Given the description of an element on the screen output the (x, y) to click on. 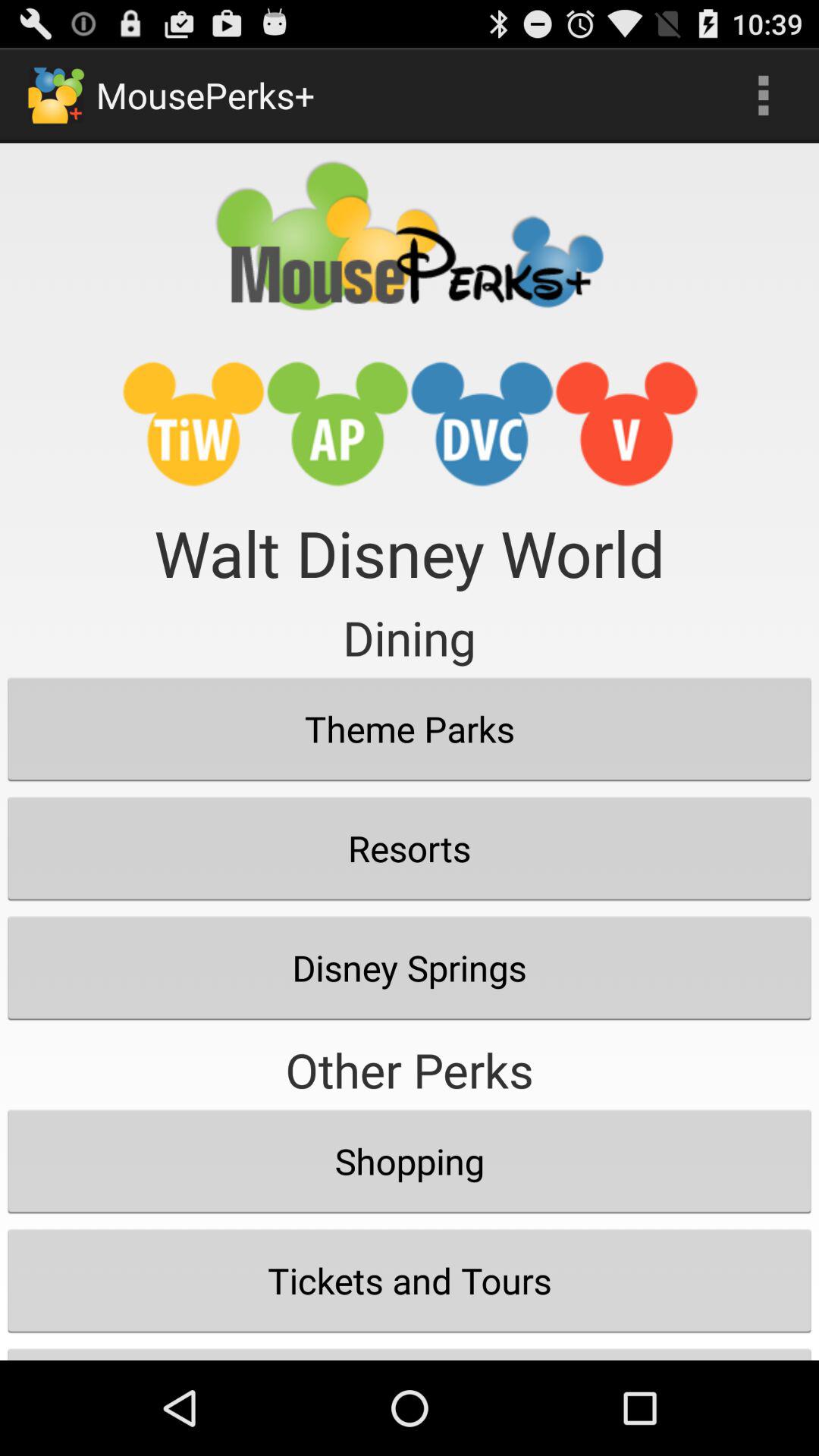
click item above the resorts button (409, 728)
